Given the description of an element on the screen output the (x, y) to click on. 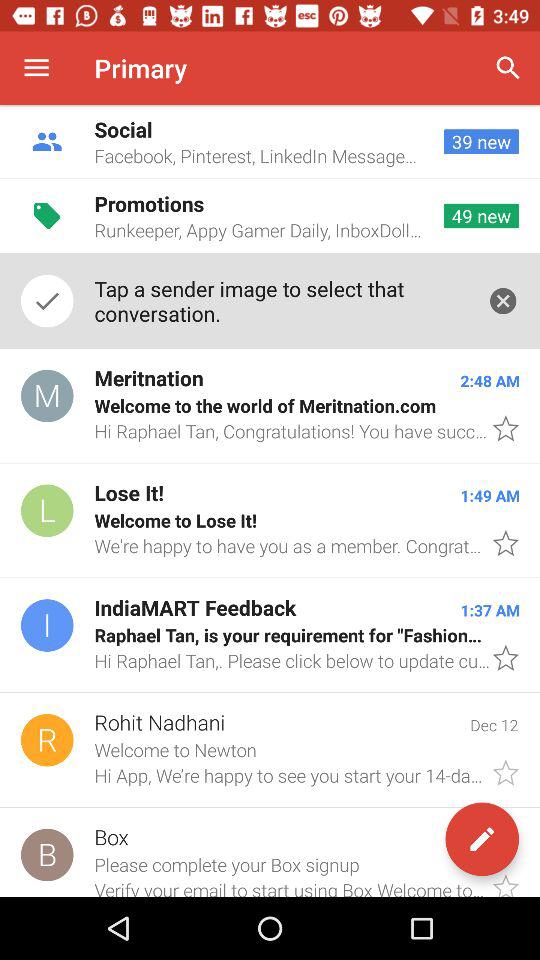
choose icon below tap a sender icon (270, 405)
